Given the description of an element on the screen output the (x, y) to click on. 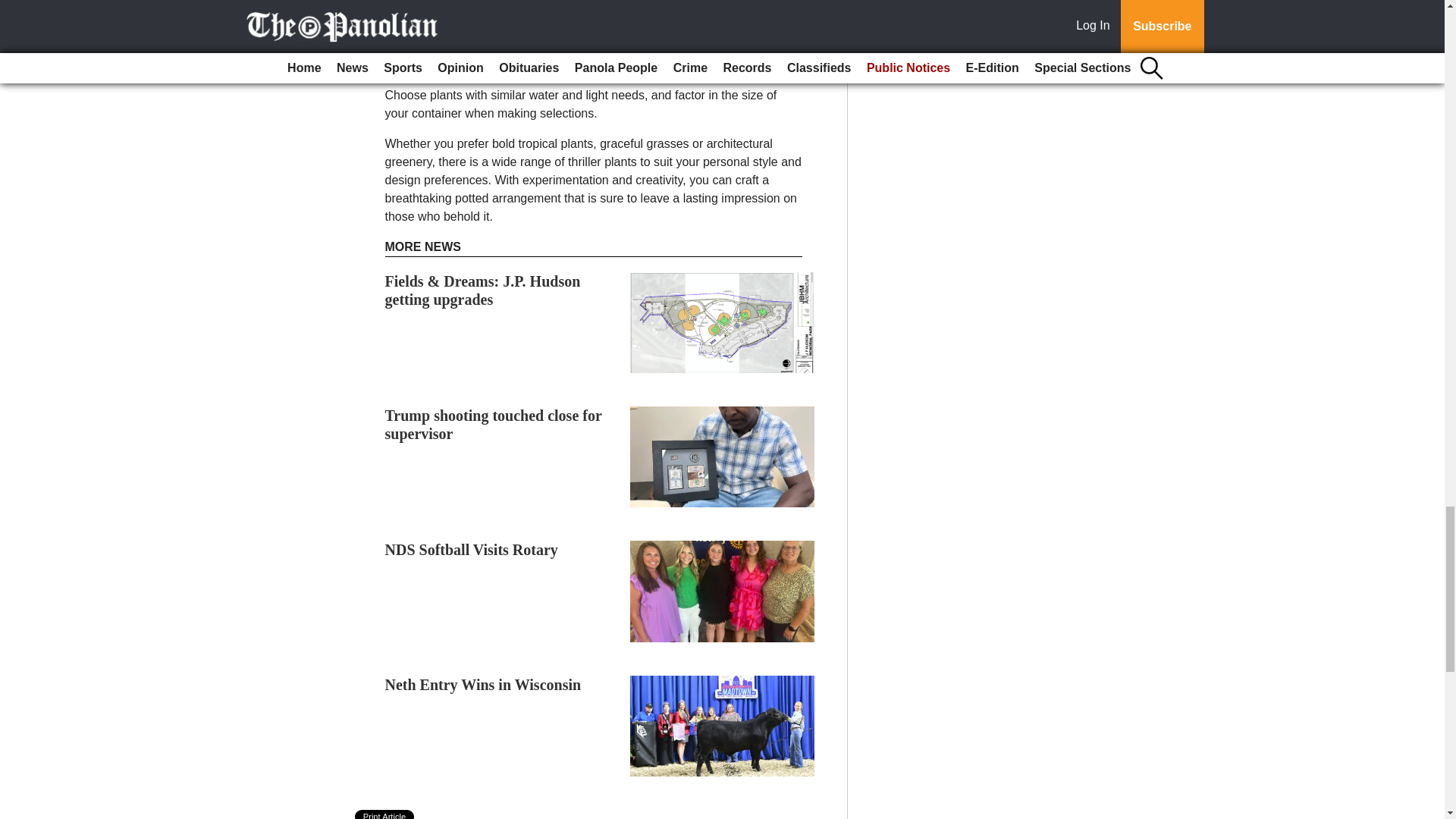
Neth Entry Wins in Wisconsin (482, 684)
NDS Softball Visits Rotary   (475, 549)
Trump shooting touched close for supervisor (493, 424)
Trump shooting touched close for supervisor (493, 424)
Neth Entry Wins in Wisconsin (482, 684)
Print Article (384, 814)
